Given the description of an element on the screen output the (x, y) to click on. 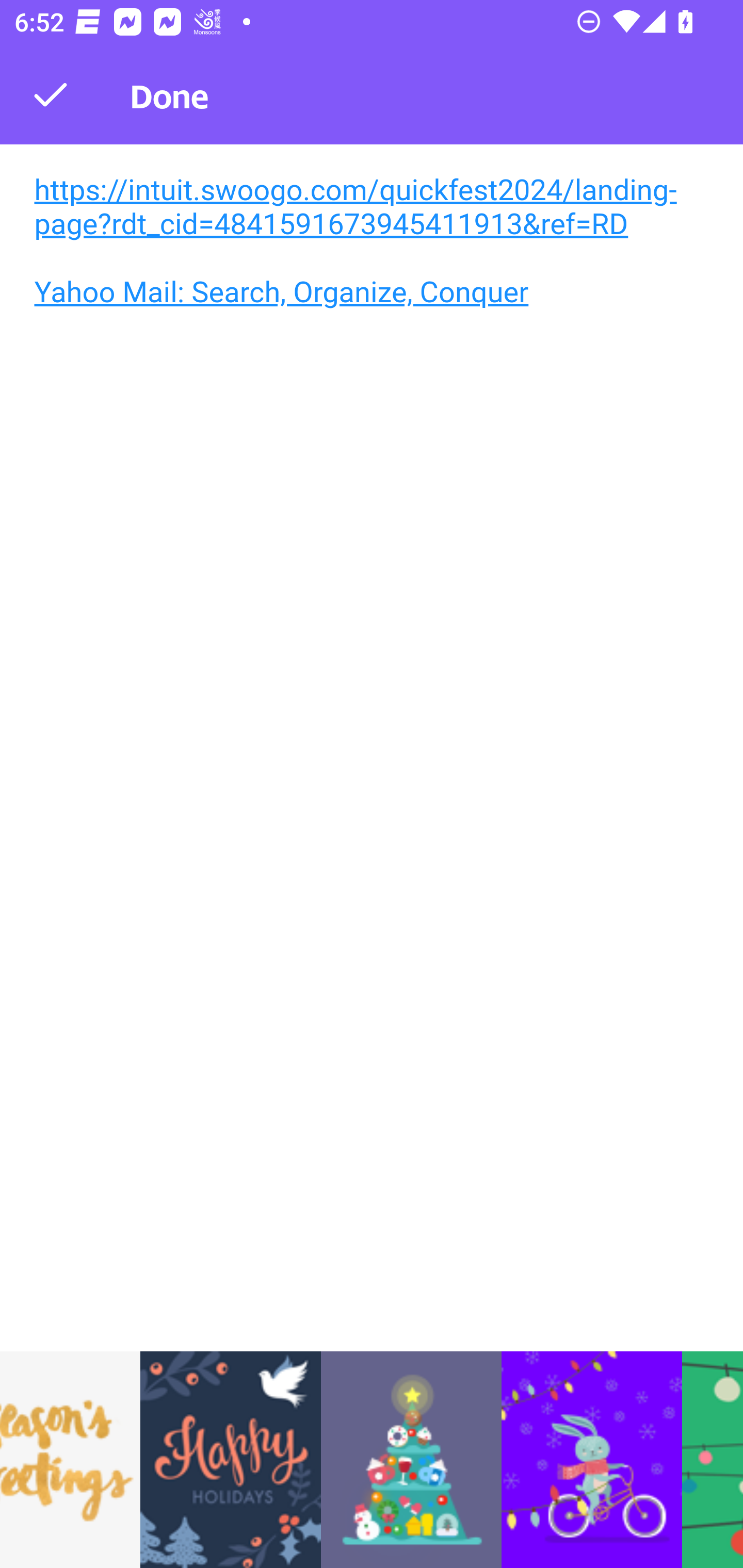
Done selecting stationery theme (50, 93)
Season's Greetings (70, 1459)
Peace and Joy (230, 1459)
Holiday Lights (410, 1459)
Bunny Lights (591, 1459)
